Given the description of an element on the screen output the (x, y) to click on. 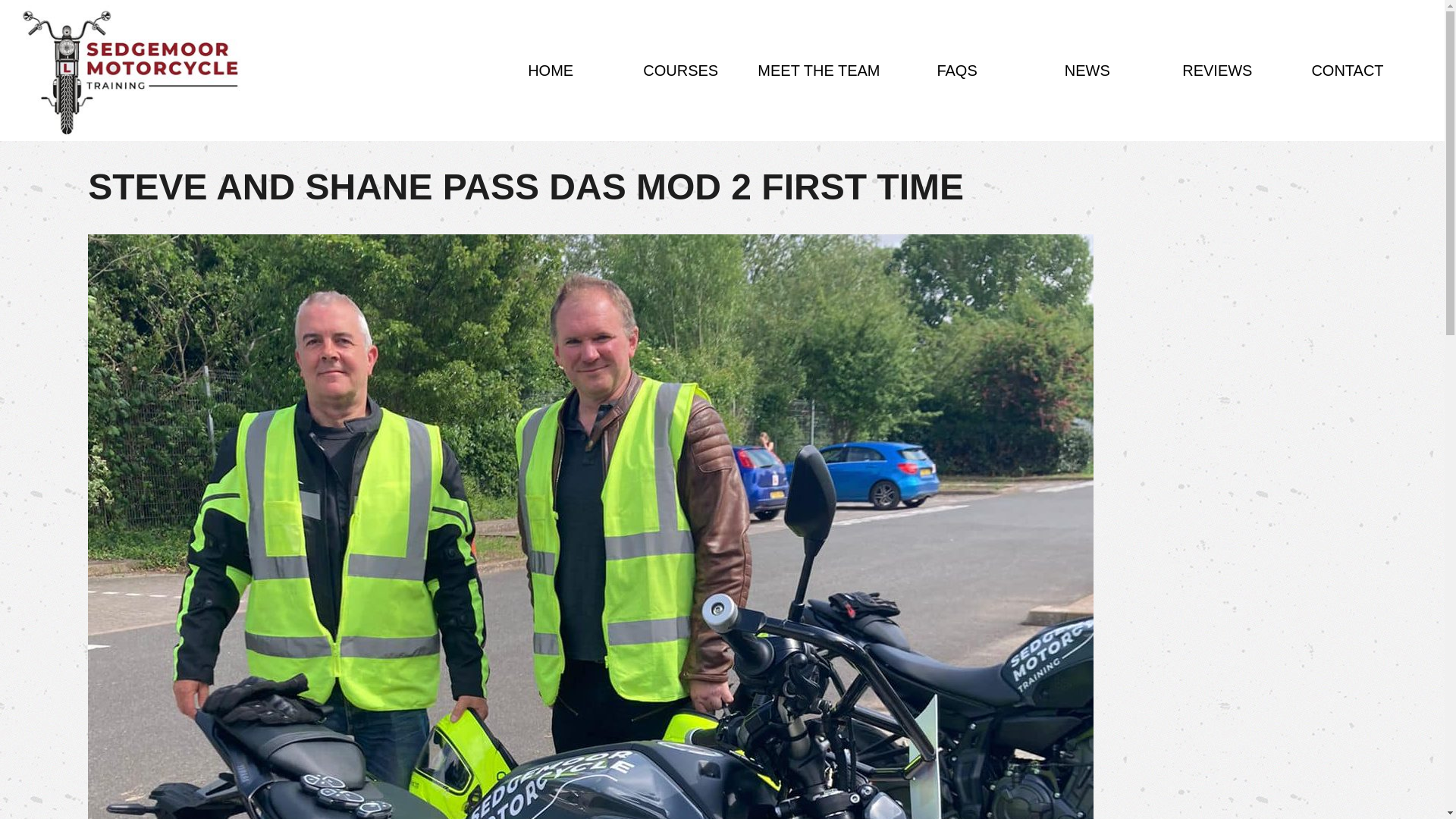
Frequently Asked Questions (957, 70)
NEWS (1087, 70)
COURSES (680, 70)
Meet The Team (818, 70)
Sedgemoor Motorcycle Training Reviews (1216, 70)
REVIEWS (1216, 70)
FAQS (957, 70)
CONTACT (1347, 70)
HOME (551, 70)
Sedgemoor Motorcycle Training Home (551, 70)
